Given the description of an element on the screen output the (x, y) to click on. 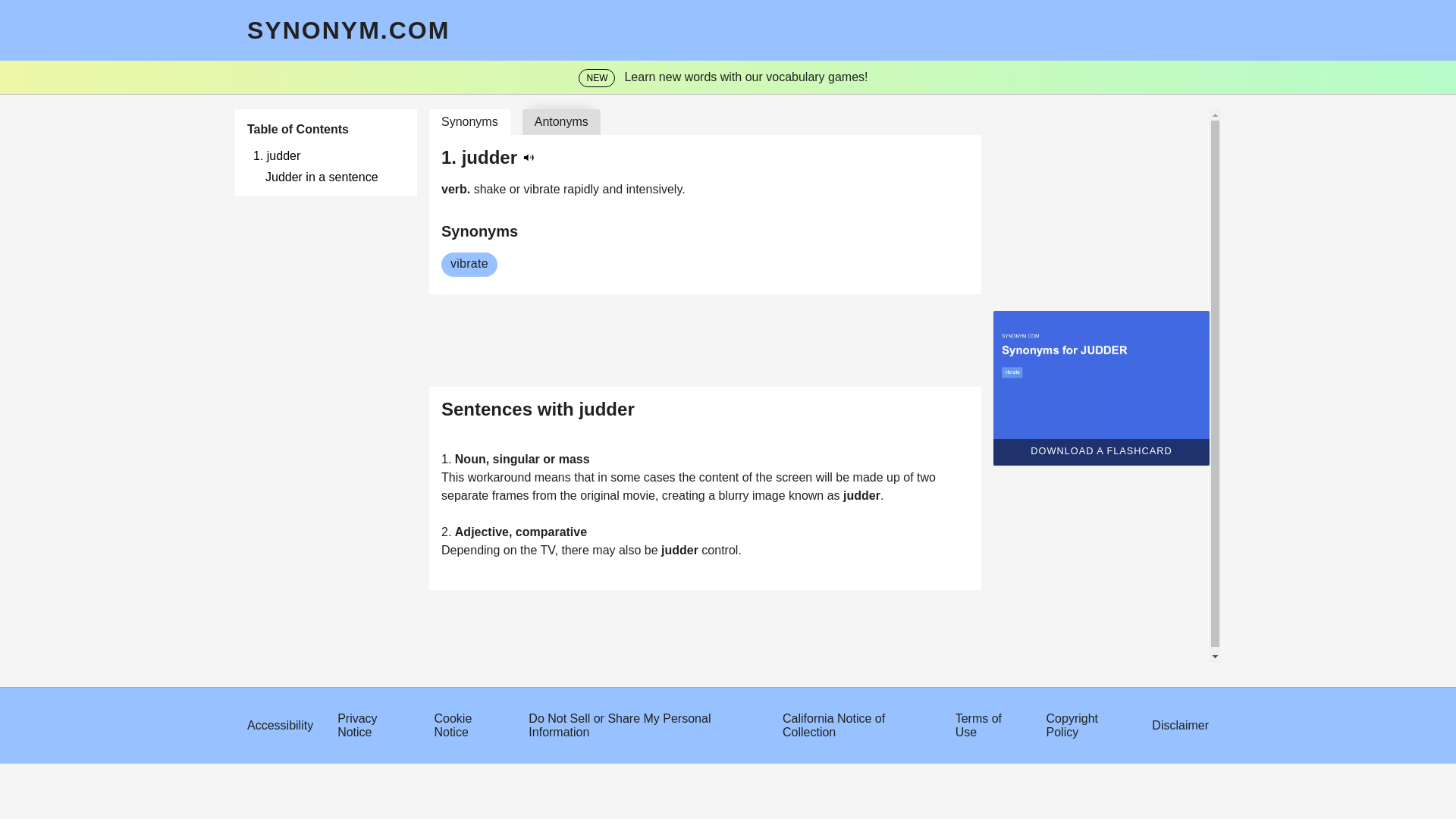
screen (789, 598)
creating (678, 616)
that (580, 598)
Judder in a sentence (328, 177)
vibrate (537, 188)
image (764, 616)
known (802, 616)
movie, (636, 616)
vibrate (462, 264)
3rd party ad content (698, 401)
the (683, 598)
intensively. (649, 188)
two (920, 598)
the (524, 671)
original (596, 616)
